Given the description of an element on the screen output the (x, y) to click on. 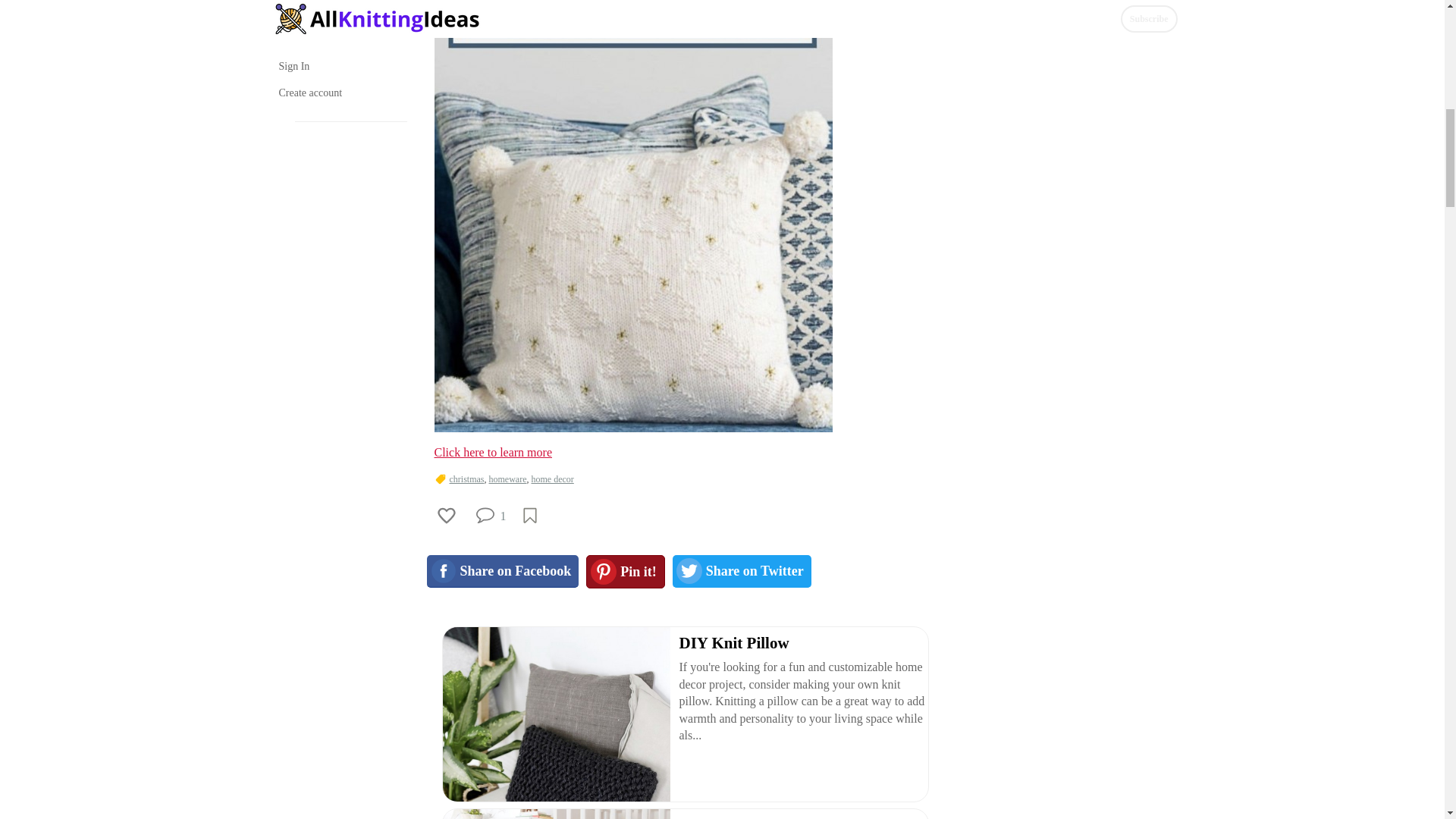
Share on Facebook (502, 571)
Share on Twitter (741, 571)
christmas (465, 479)
Pin it! (625, 571)
Click here to learn more (492, 451)
home decor (552, 479)
homeware (506, 479)
